Given the description of an element on the screen output the (x, y) to click on. 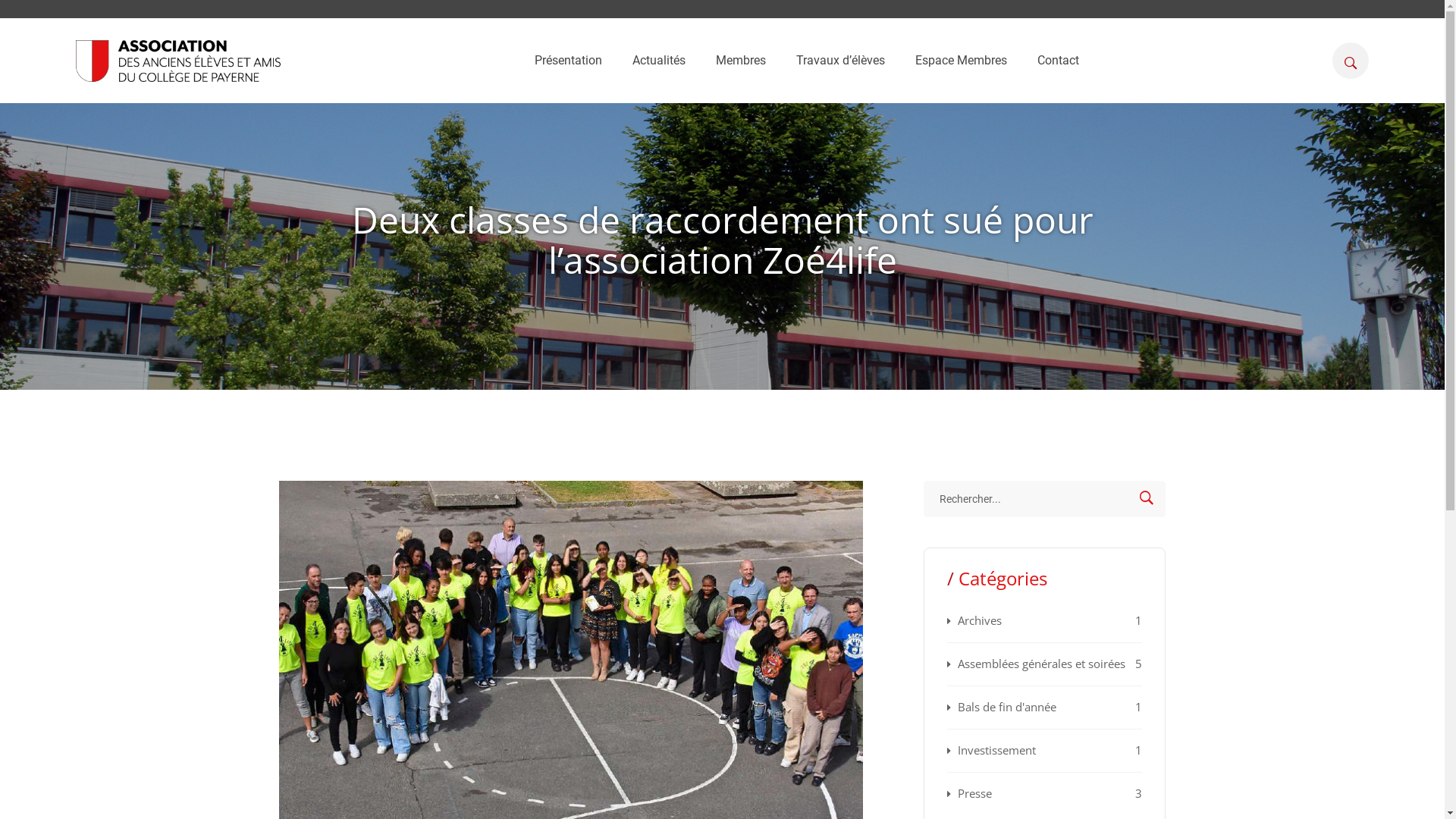
Archives
1 Element type: text (1044, 620)
Membres Element type: text (740, 60)
Investissement
1 Element type: text (1044, 749)
Presse
3 Element type: text (1044, 787)
Contact Element type: text (1057, 60)
Recherche Element type: text (1146, 498)
Espace Membres Element type: text (959, 60)
